Given the description of an element on the screen output the (x, y) to click on. 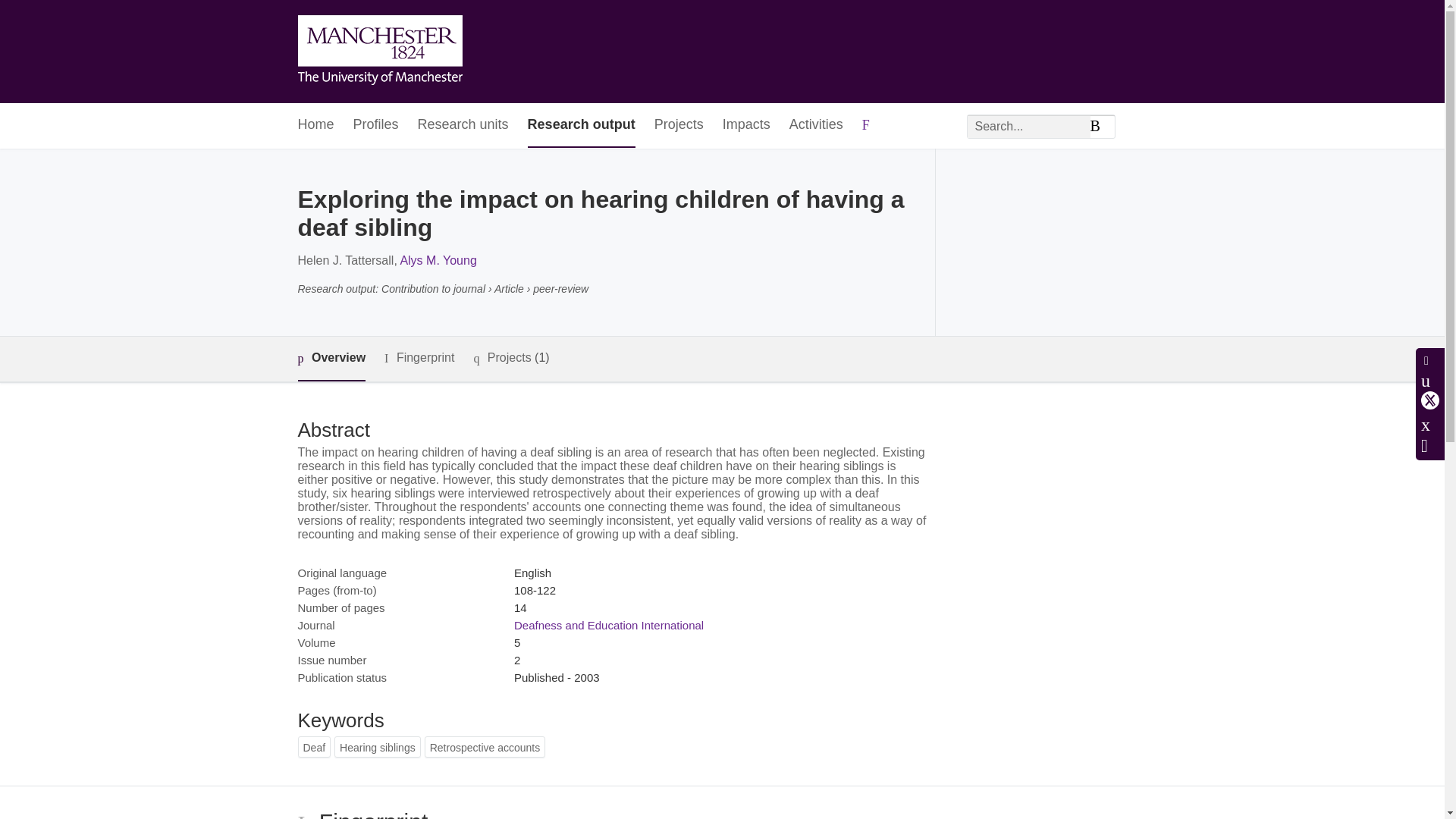
Research units (462, 125)
Research Explorer The University of Manchester Home (379, 51)
Home (315, 125)
Activities (816, 125)
Deafness and Education International (608, 625)
Fingerprint (419, 358)
Projects (678, 125)
Impacts (746, 125)
Overview (331, 358)
Alys M. Young (437, 259)
Profiles (375, 125)
Research output (580, 125)
